Given the description of an element on the screen output the (x, y) to click on. 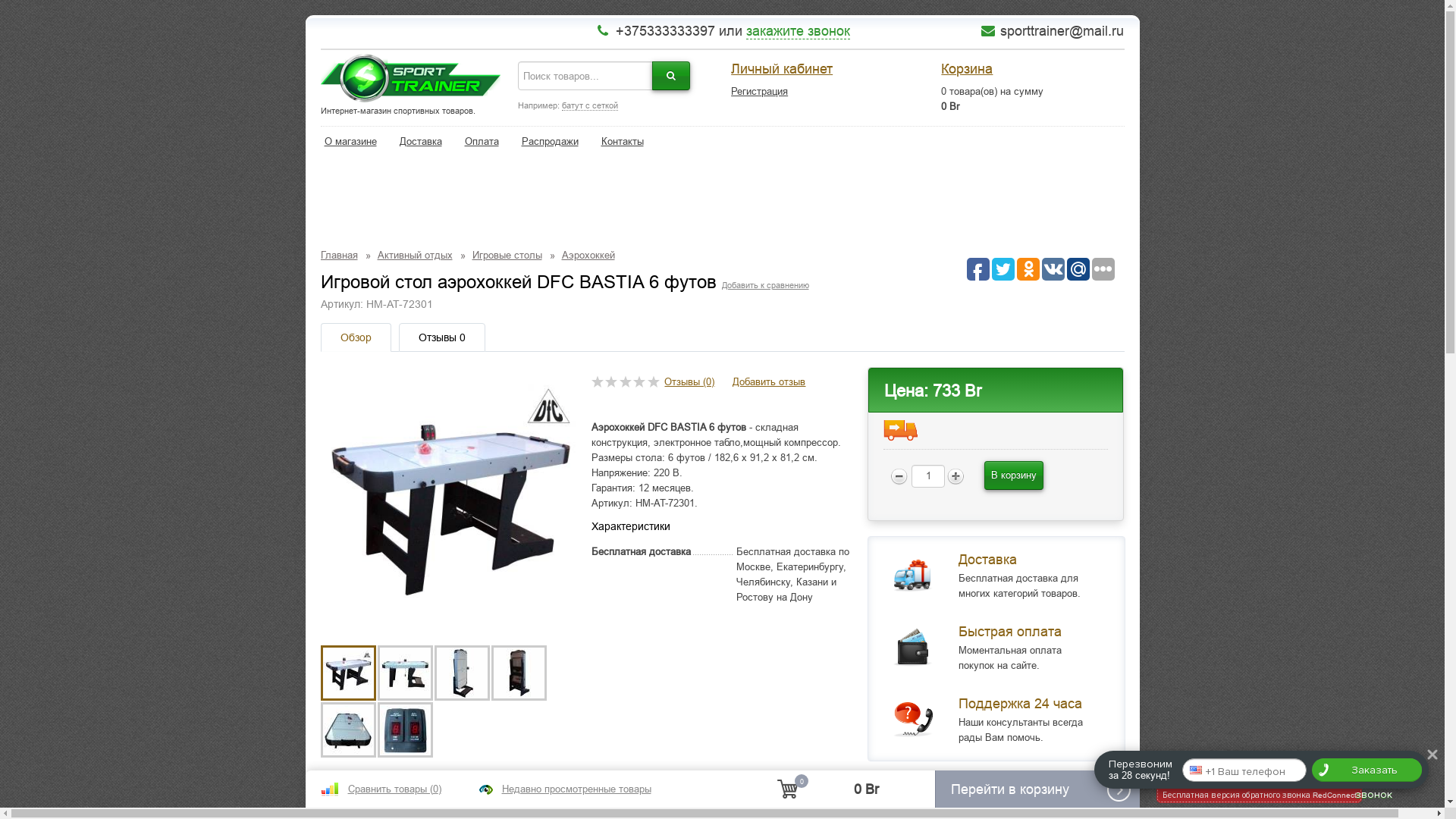
sporttrainer@mail.ru Element type: text (1061, 30)
+375333333397 Element type: text (665, 30)
